Given the description of an element on the screen output the (x, y) to click on. 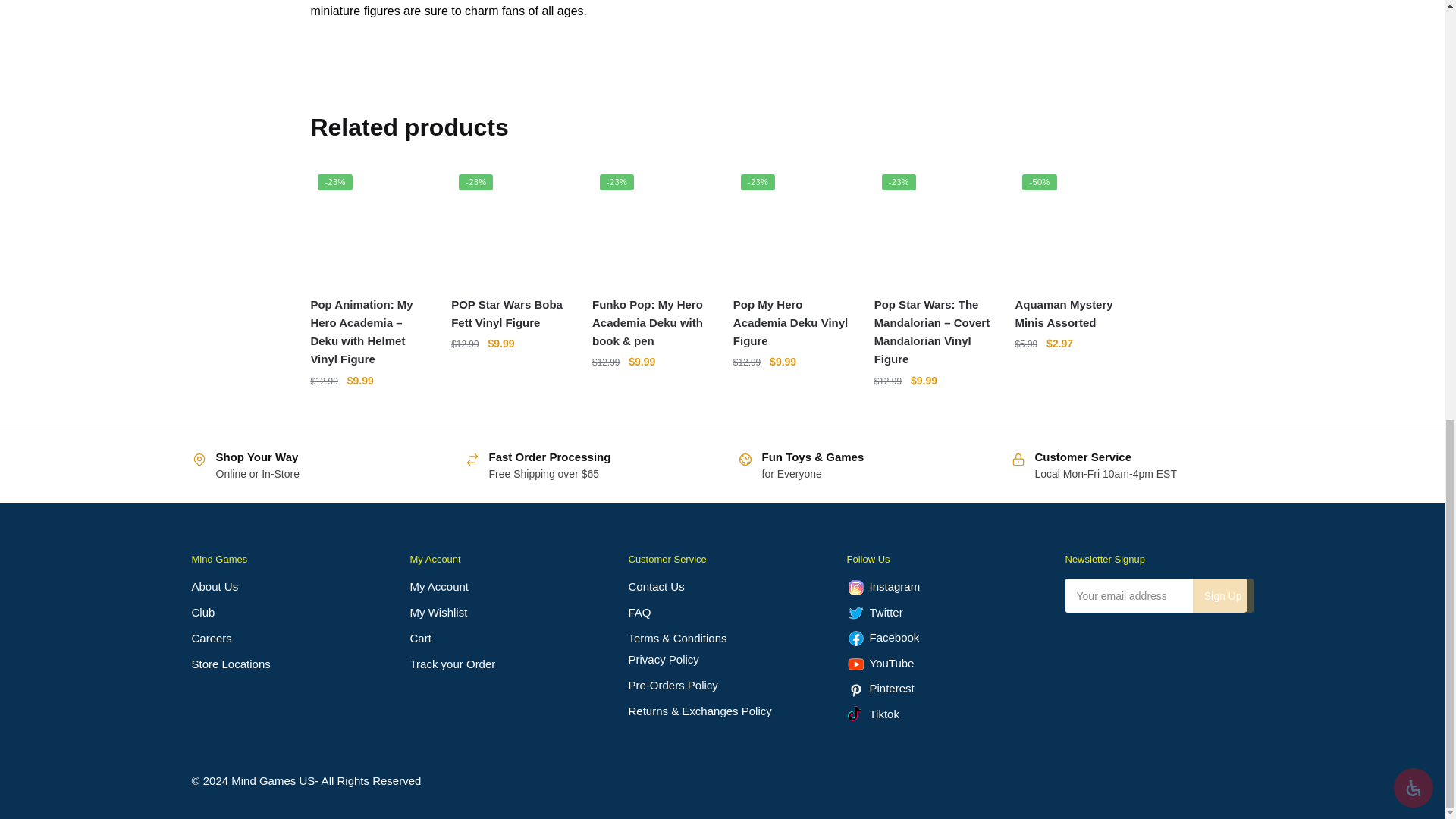
Pop My Hero Academia Deku Vinyl Figure (792, 226)
POP Star Wars Boba Fett Vinyl Figure (510, 226)
Sign up (1222, 595)
